Given the description of an element on the screen output the (x, y) to click on. 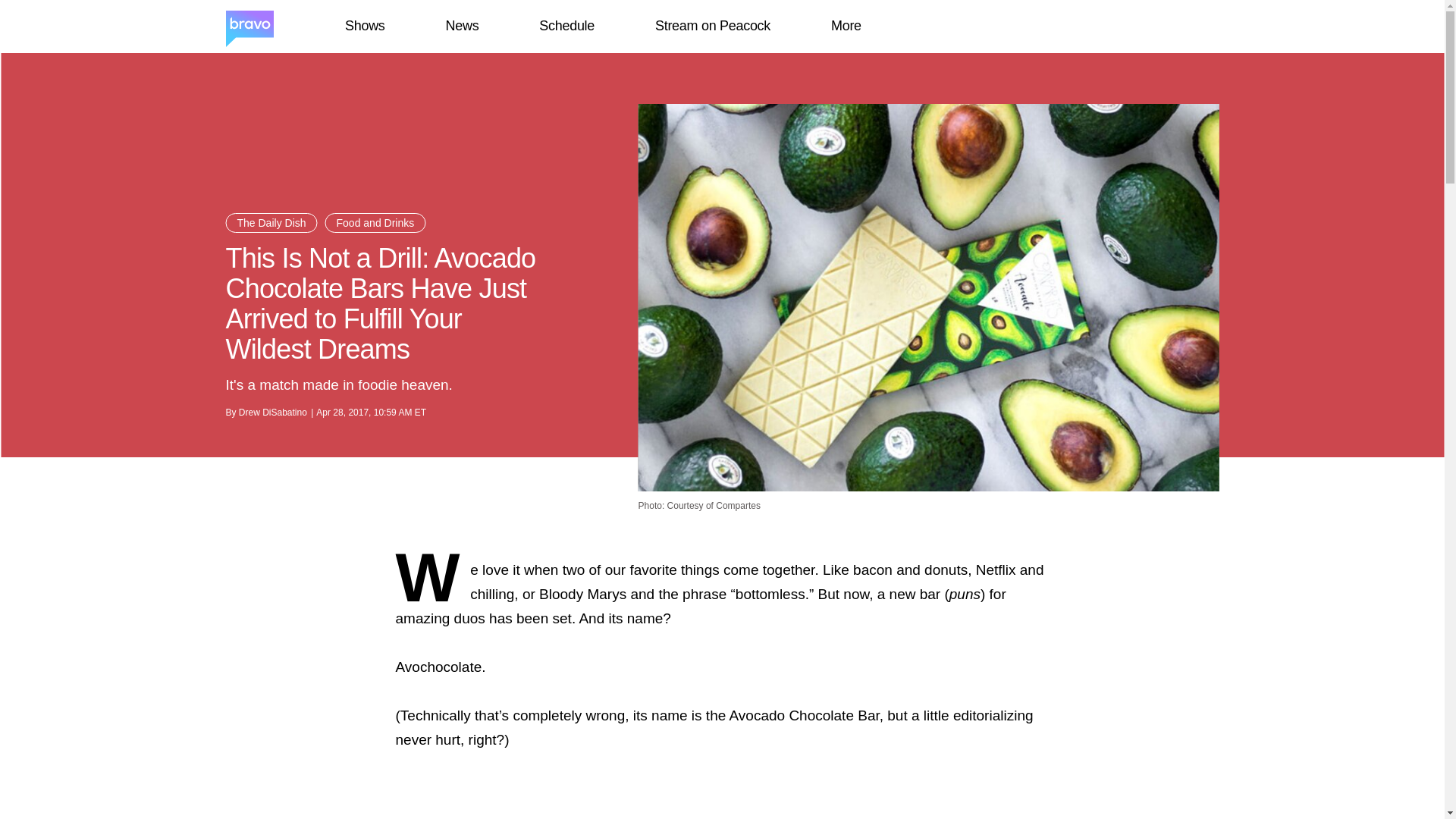
Shows (363, 26)
Schedule (566, 26)
Food and Drinks (375, 222)
News (462, 26)
The Daily Dish (271, 222)
Home (249, 26)
More (846, 26)
Drew DiSabatino (272, 412)
Stream on Peacock (712, 26)
